Given the description of an element on the screen output the (x, y) to click on. 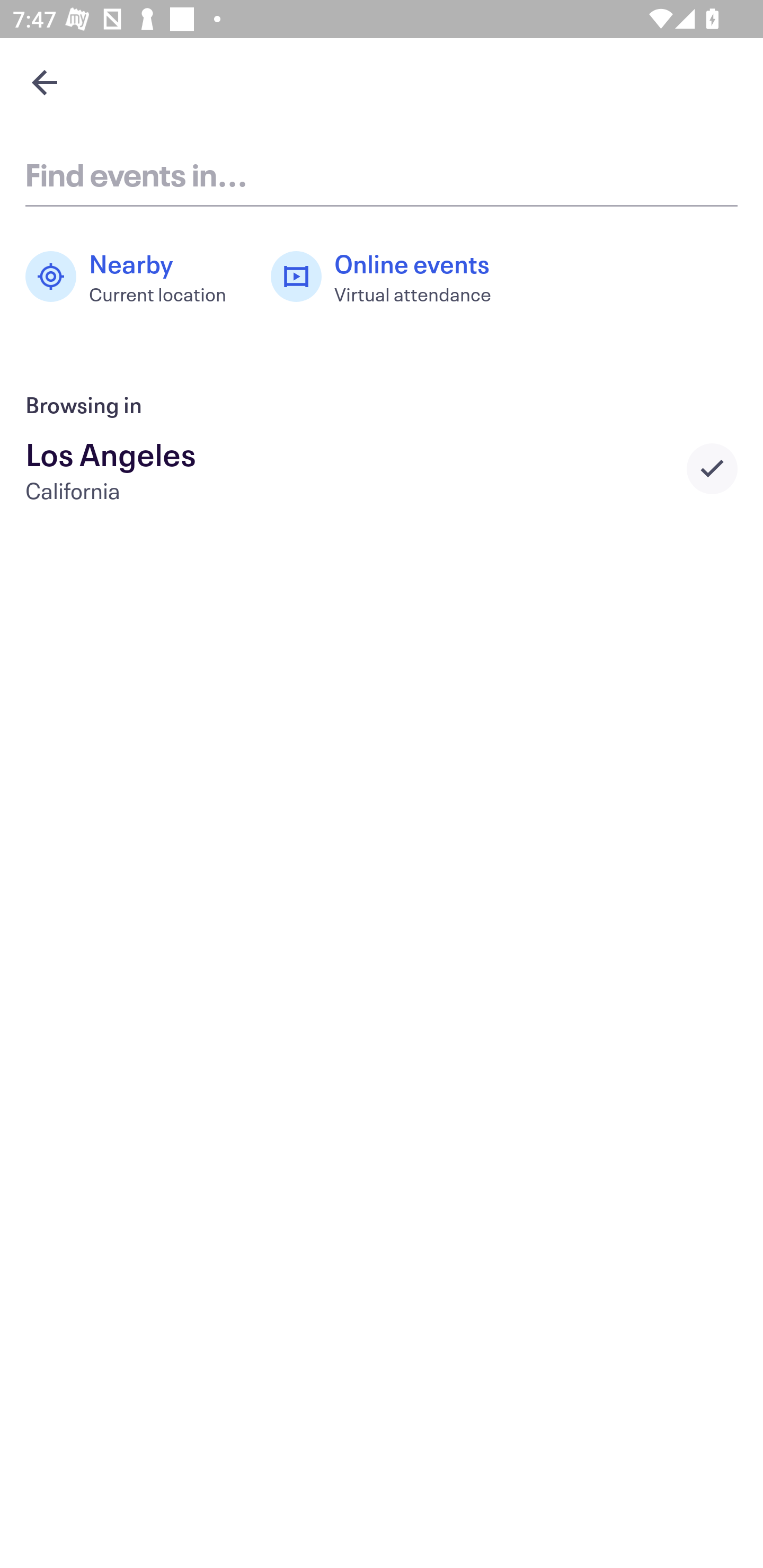
Navigate up (44, 82)
Find events in... (381, 173)
Nearby Current location (135, 276)
Online events Virtual attendance (390, 276)
Los Angeles California Selected city (381, 468)
